Given the description of an element on the screen output the (x, y) to click on. 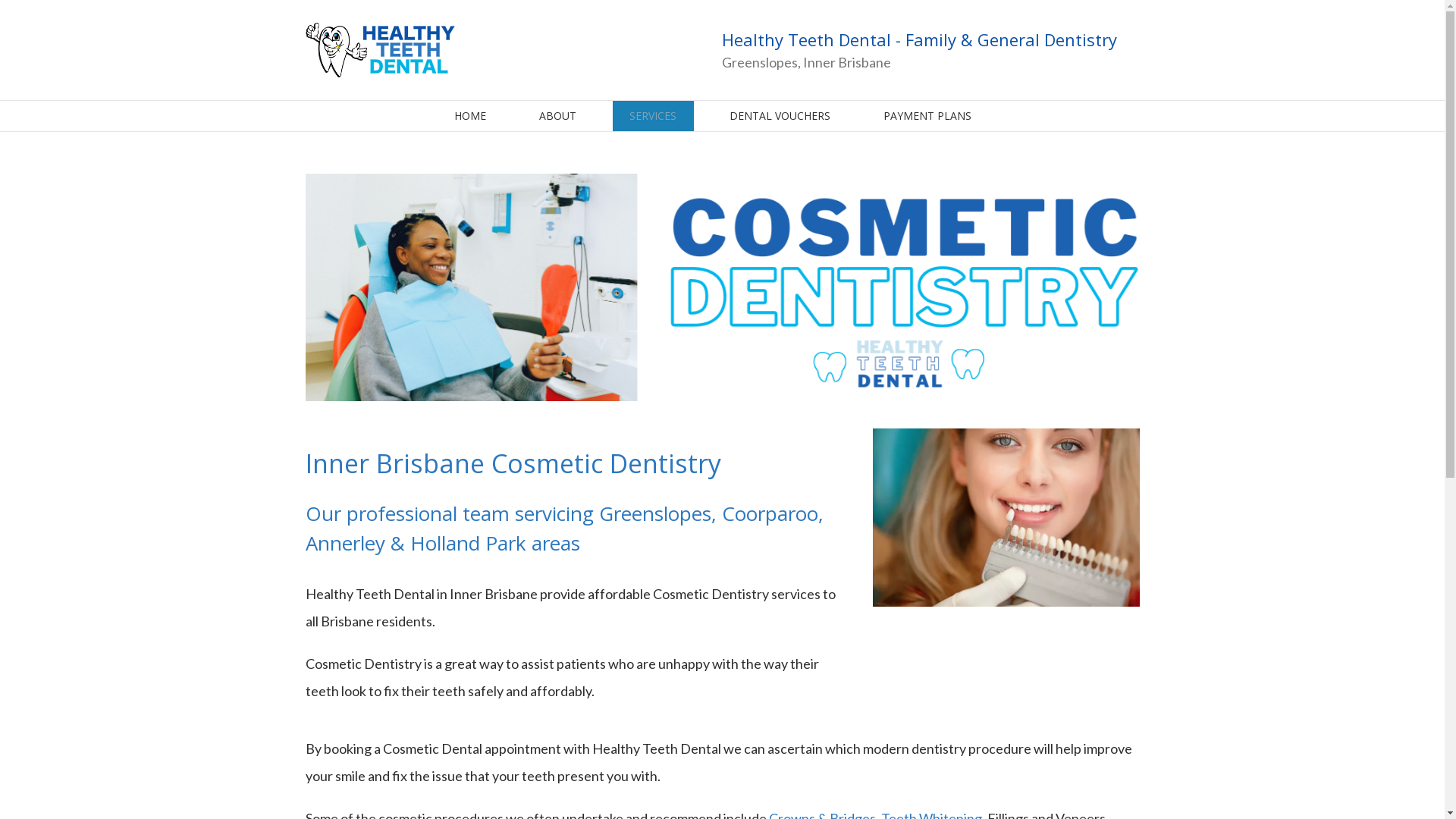
ABOUT Element type: text (557, 115)
SERVICES Element type: text (652, 115)
PAYMENT PLANS Element type: text (927, 115)
HOME Element type: text (469, 115)
DENTAL VOUCHERS Element type: text (779, 115)
cosmetic-dtstry Element type: hover (1005, 517)
